Given the description of an element on the screen output the (x, y) to click on. 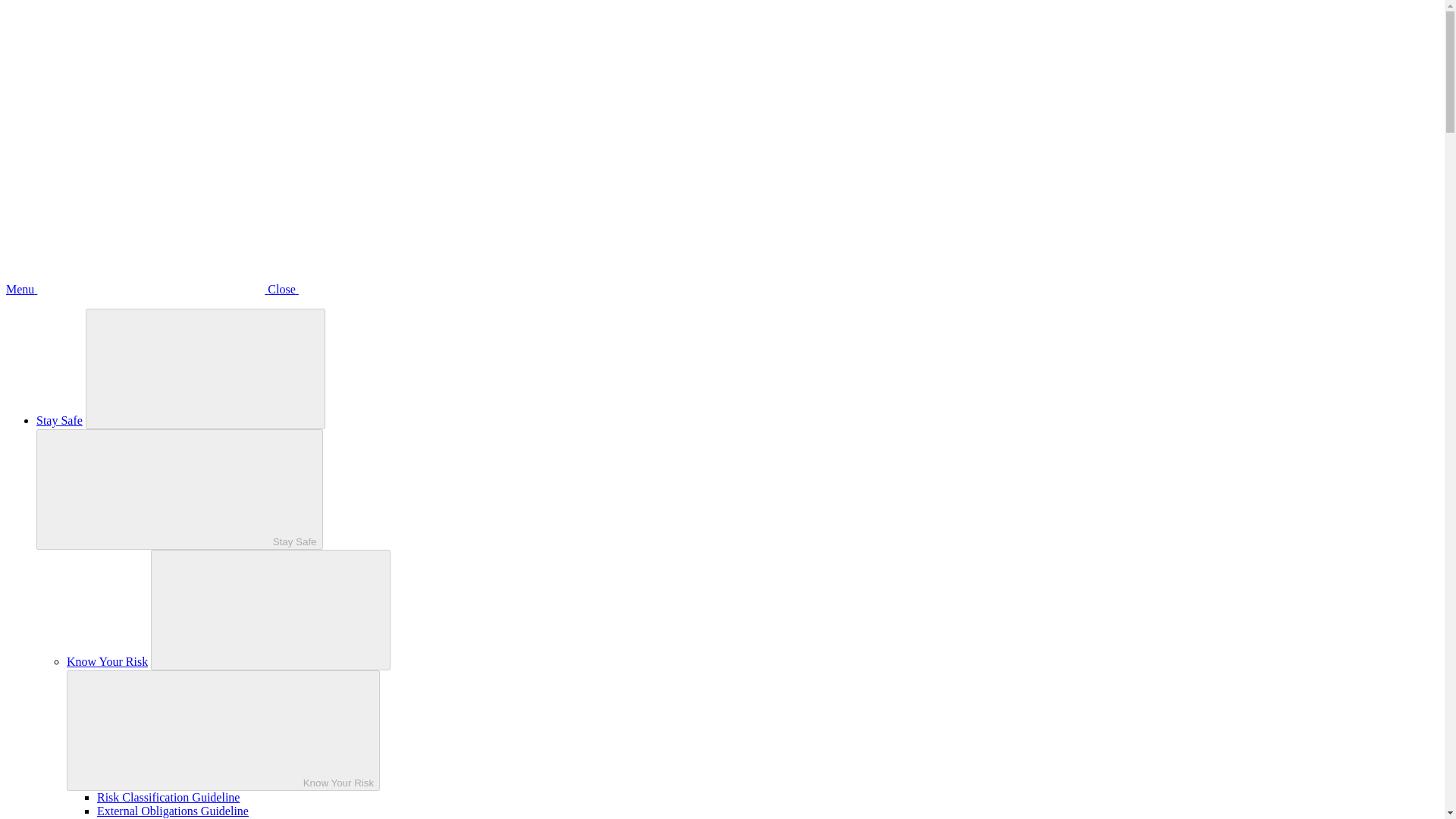
Risk Classification Guideline (168, 797)
Stay Safe (59, 420)
Menu Close (265, 288)
External Obligations Guideline (172, 810)
Know Your Risk (107, 661)
Know Your Risk (223, 730)
Stay Safe (179, 489)
